Given the description of an element on the screen output the (x, y) to click on. 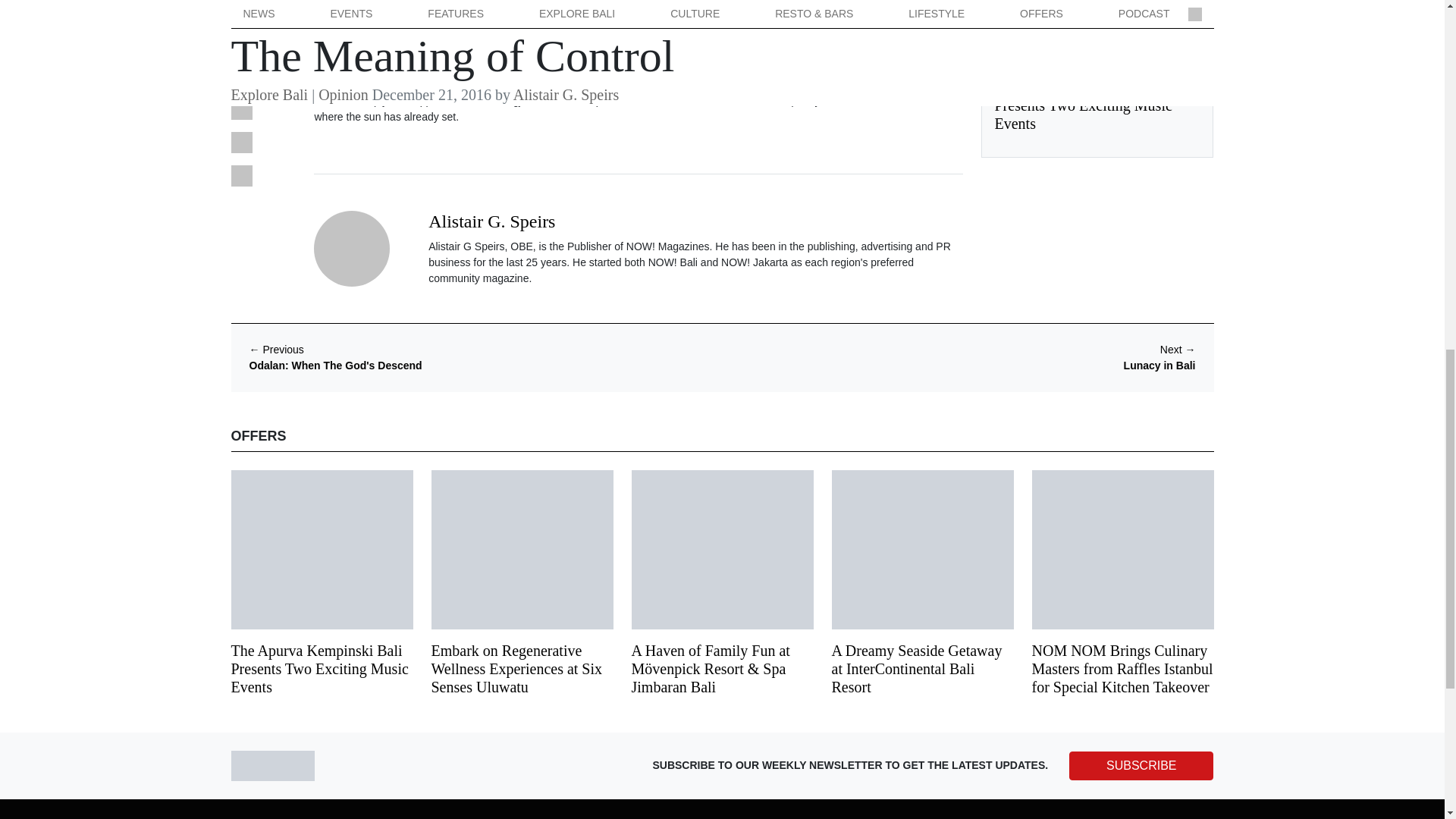
Alistair G. Speirs (491, 220)
The Apurva Kempinski Bali Presents Two Exciting Music Events (1083, 104)
Experience Offers (1036, 63)
